Given the description of an element on the screen output the (x, y) to click on. 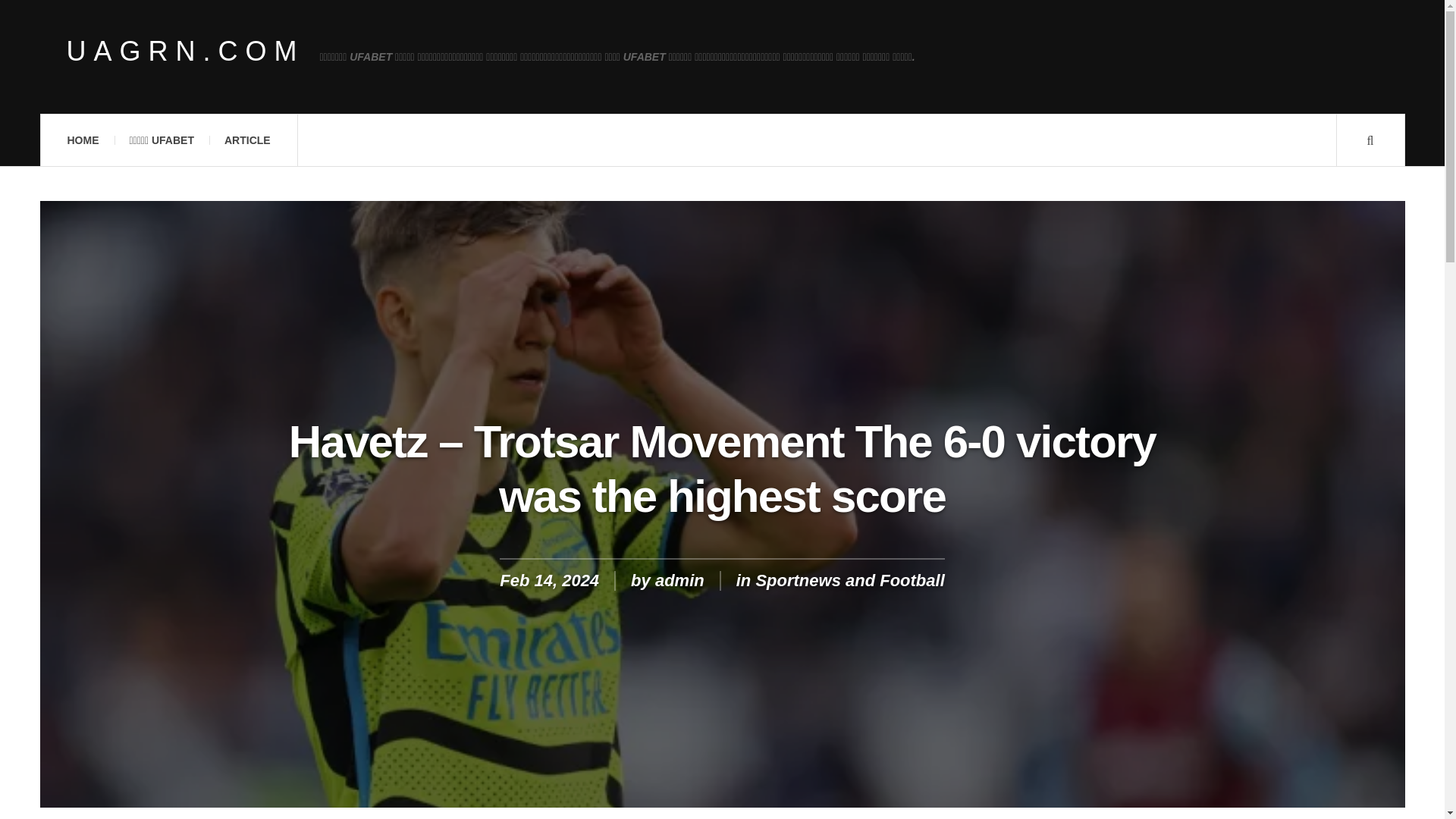
Sportnews and Football (849, 579)
admin (679, 579)
ARTICLE (247, 140)
HOME (81, 140)
uagrn.com (185, 51)
View all posts in Sportnews and Football (849, 579)
UAGRN.COM (185, 51)
